Given the description of an element on the screen output the (x, y) to click on. 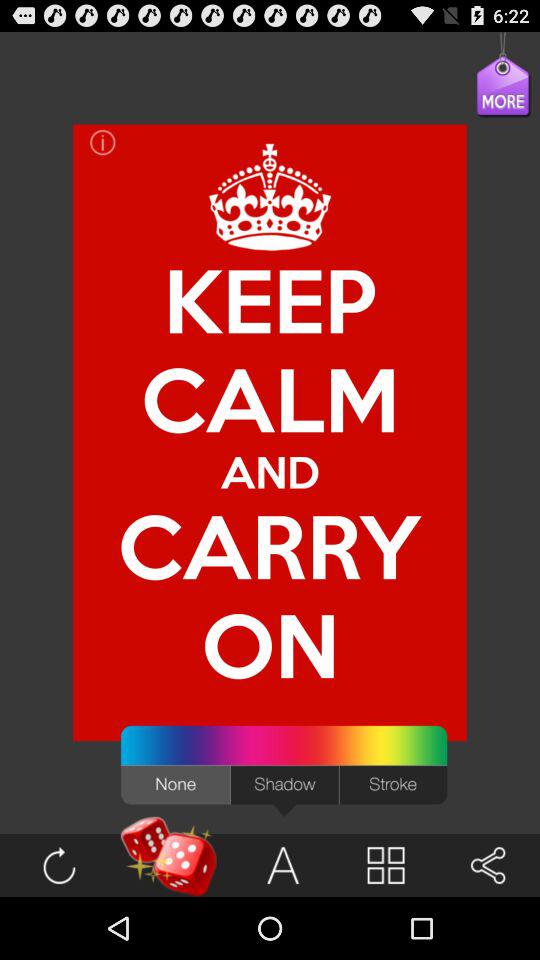
turn on the item above the on item (269, 471)
